Given the description of an element on the screen output the (x, y) to click on. 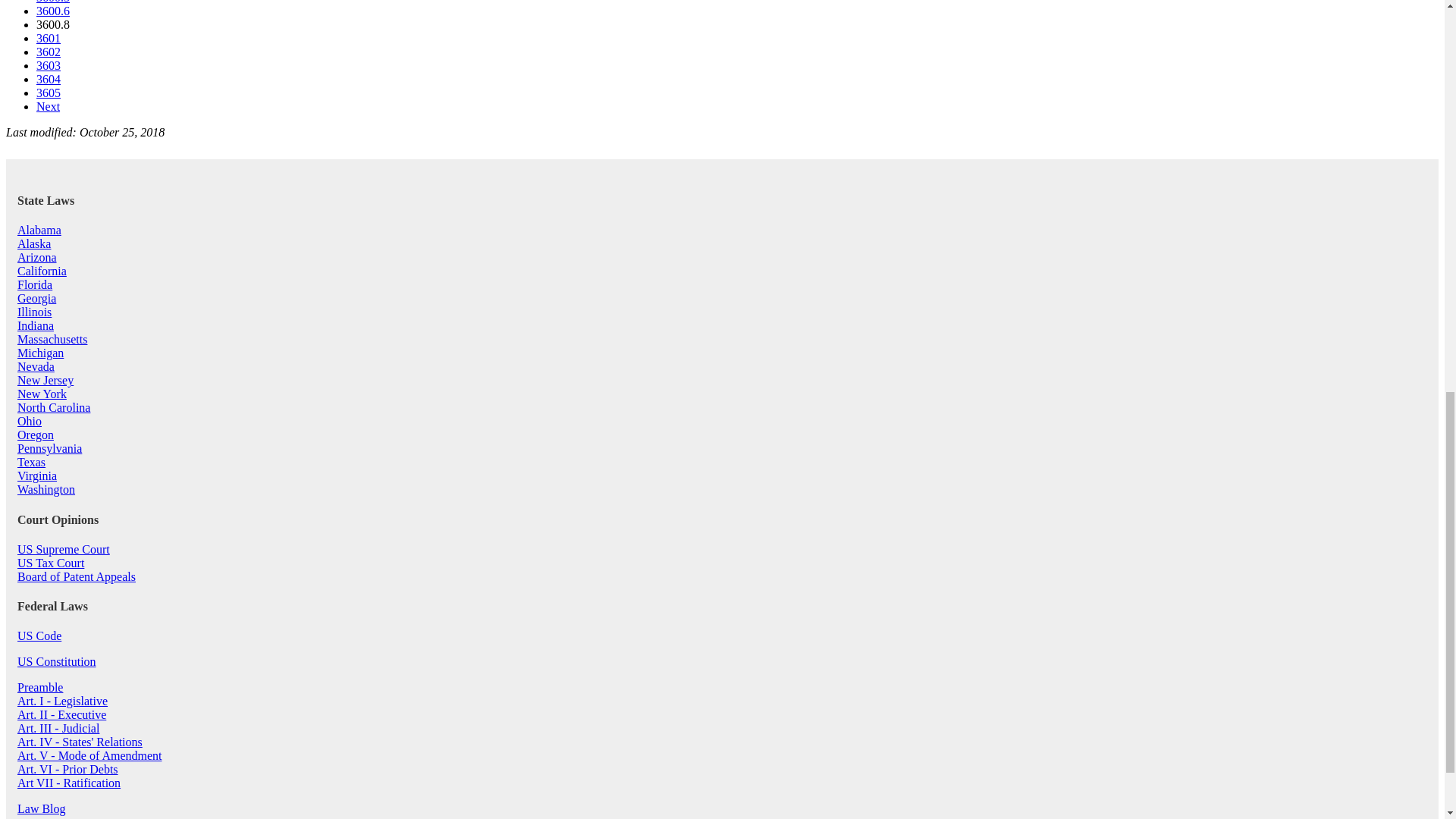
Massachusetts (52, 338)
Alabama (39, 229)
Michigan (40, 352)
Ohio (29, 420)
Arizona (36, 256)
3605 (48, 92)
Next (47, 106)
Florida (34, 284)
California (41, 270)
3600.6 (52, 10)
3602 (48, 51)
3601 (48, 38)
Georgia (36, 297)
New York (41, 393)
North Carolina (53, 407)
